Given the description of an element on the screen output the (x, y) to click on. 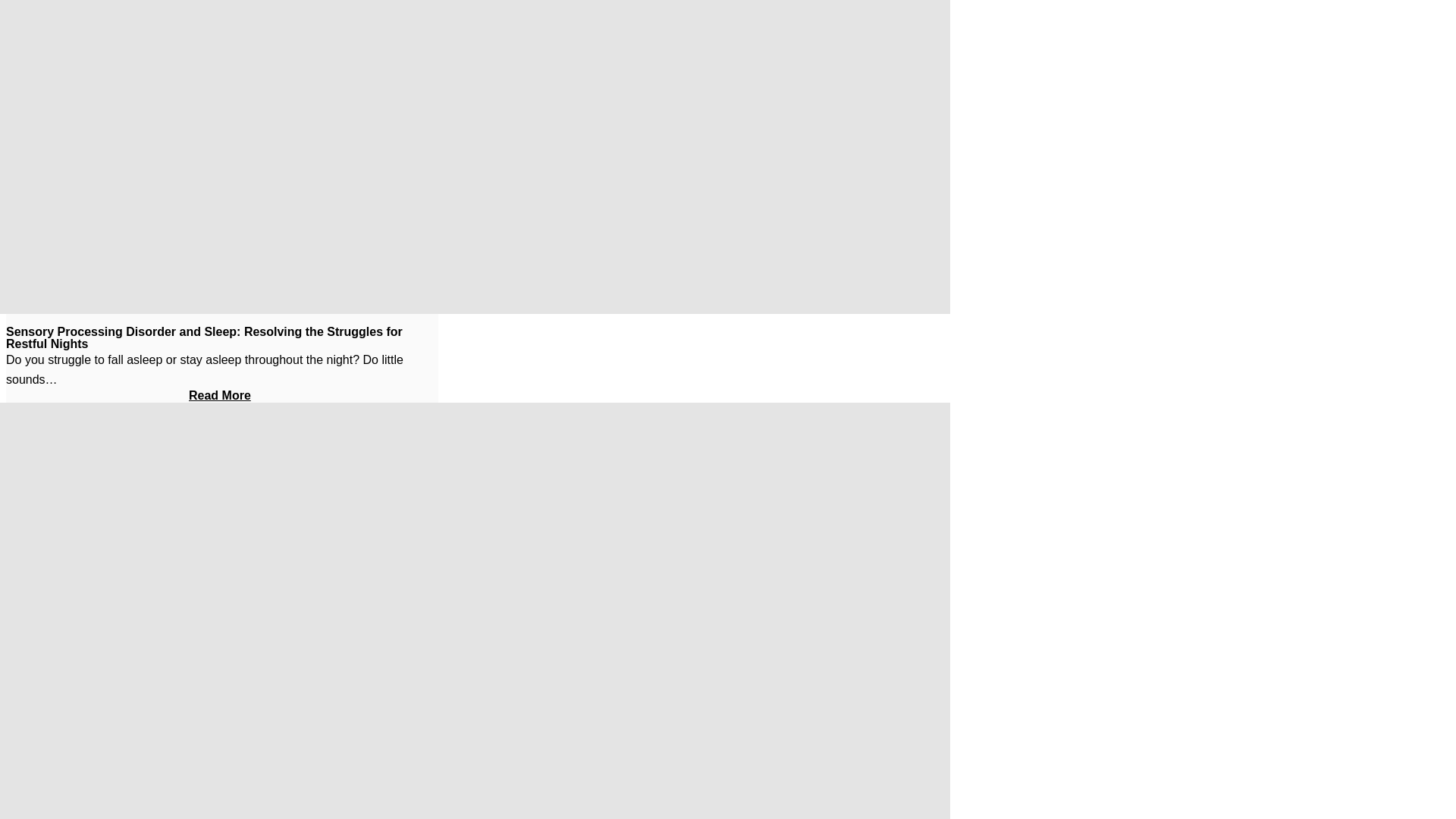
Read More (221, 396)
